Given the description of an element on the screen output the (x, y) to click on. 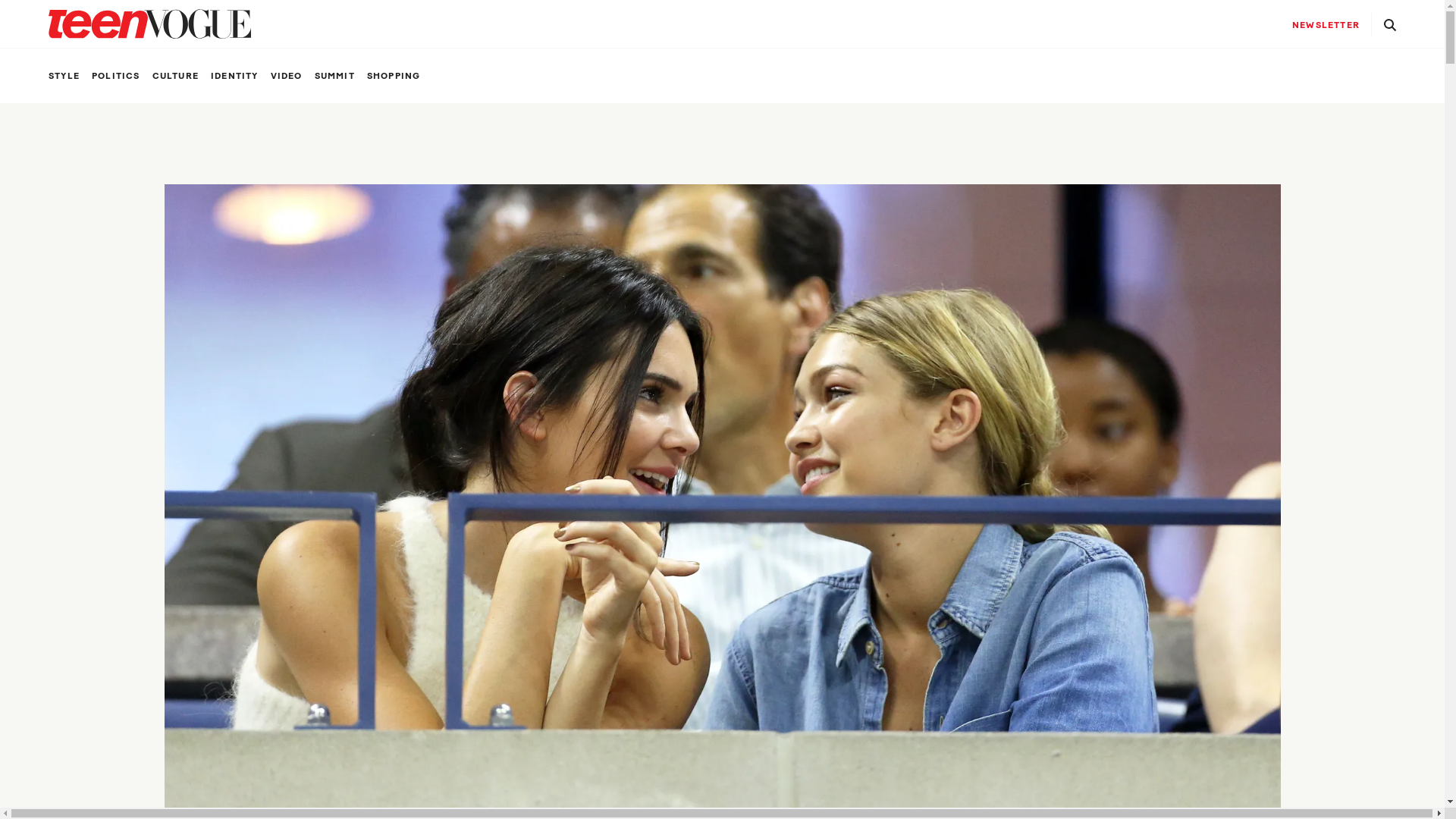
POLITICS Element type: text (115, 75)
NEWSLETTER Element type: text (1325, 24)
SUMMIT Element type: text (334, 75)
SEARCH Element type: text (1389, 24)
Skip to main content Element type: text (0, 0)
VIDEO Element type: text (286, 75)
STYLE Element type: text (63, 75)
IDENTITY Element type: text (234, 75)
SHOPPING Element type: text (393, 75)
CULTURE Element type: text (175, 75)
